Given the description of an element on the screen output the (x, y) to click on. 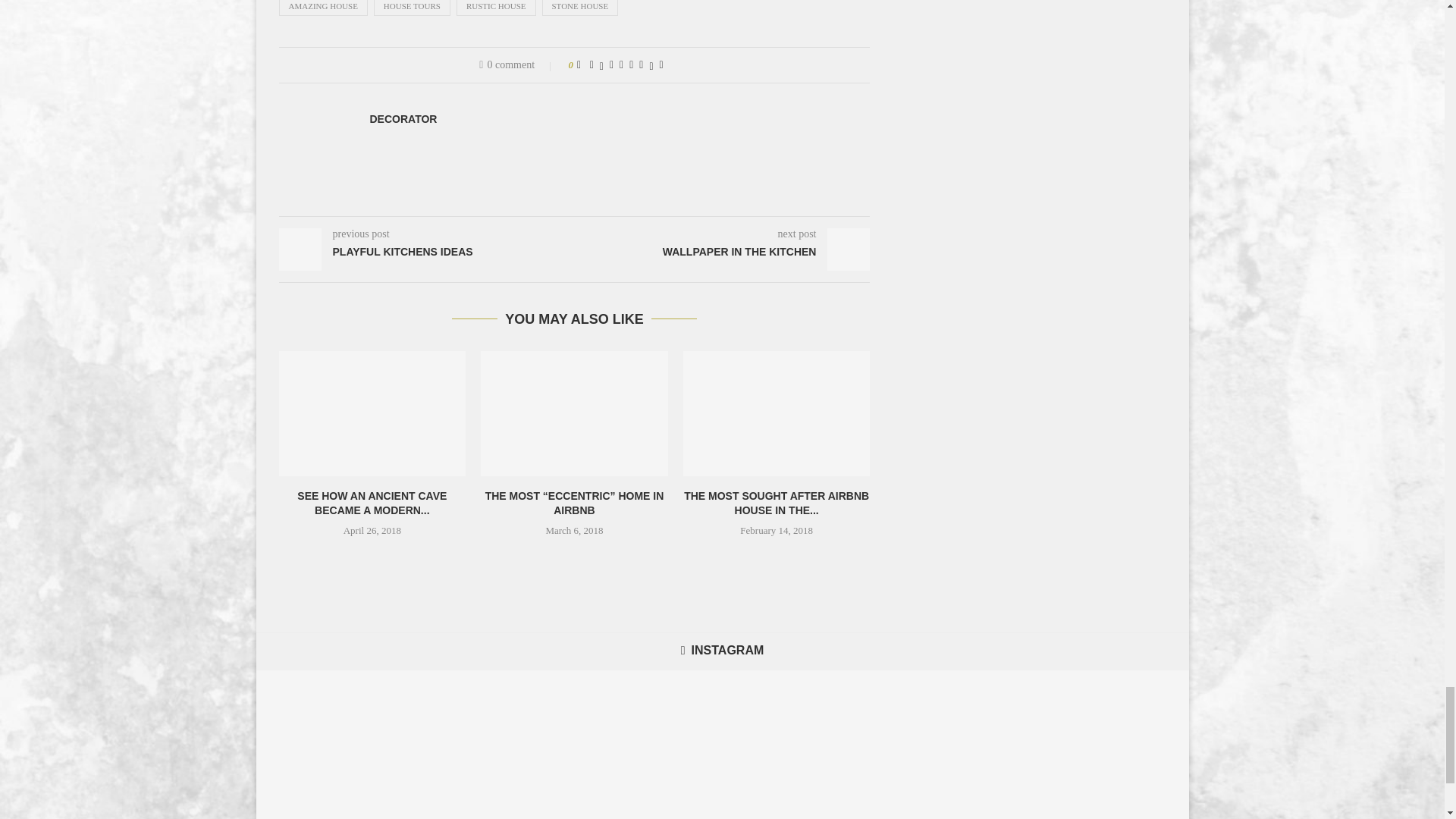
See how an ancient cave became a modern masterpiece (372, 413)
Like (578, 64)
Author Decorator (403, 119)
